Given the description of an element on the screen output the (x, y) to click on. 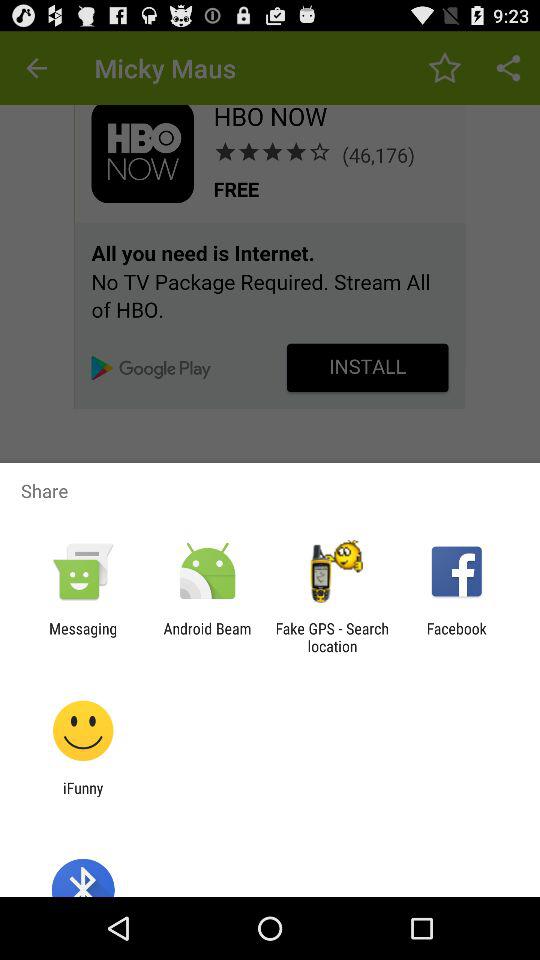
press facebook (456, 637)
